Given the description of an element on the screen output the (x, y) to click on. 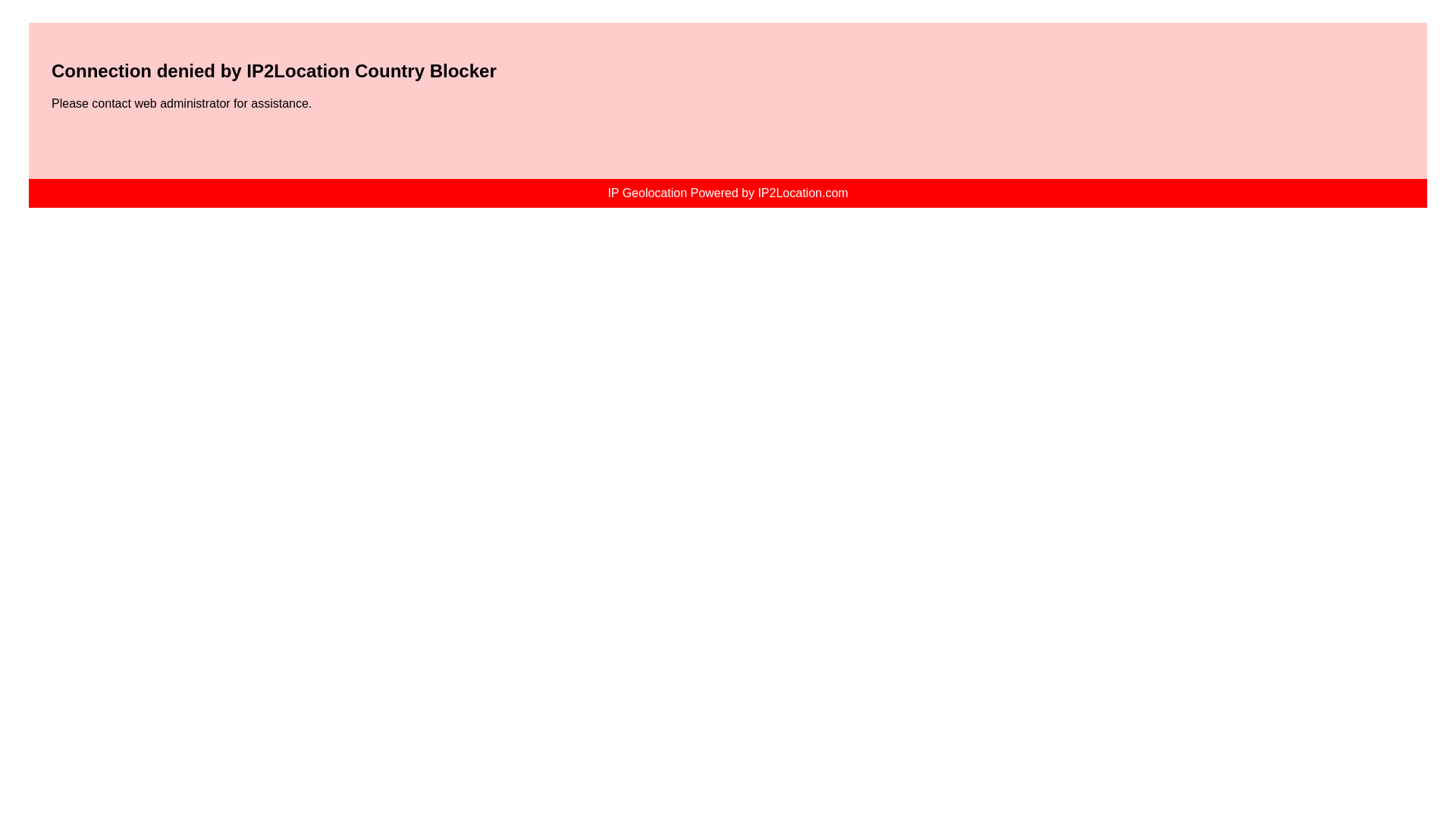
IP Geolocation Powered by IP2Location.com Element type: text (727, 192)
